Given the description of an element on the screen output the (x, y) to click on. 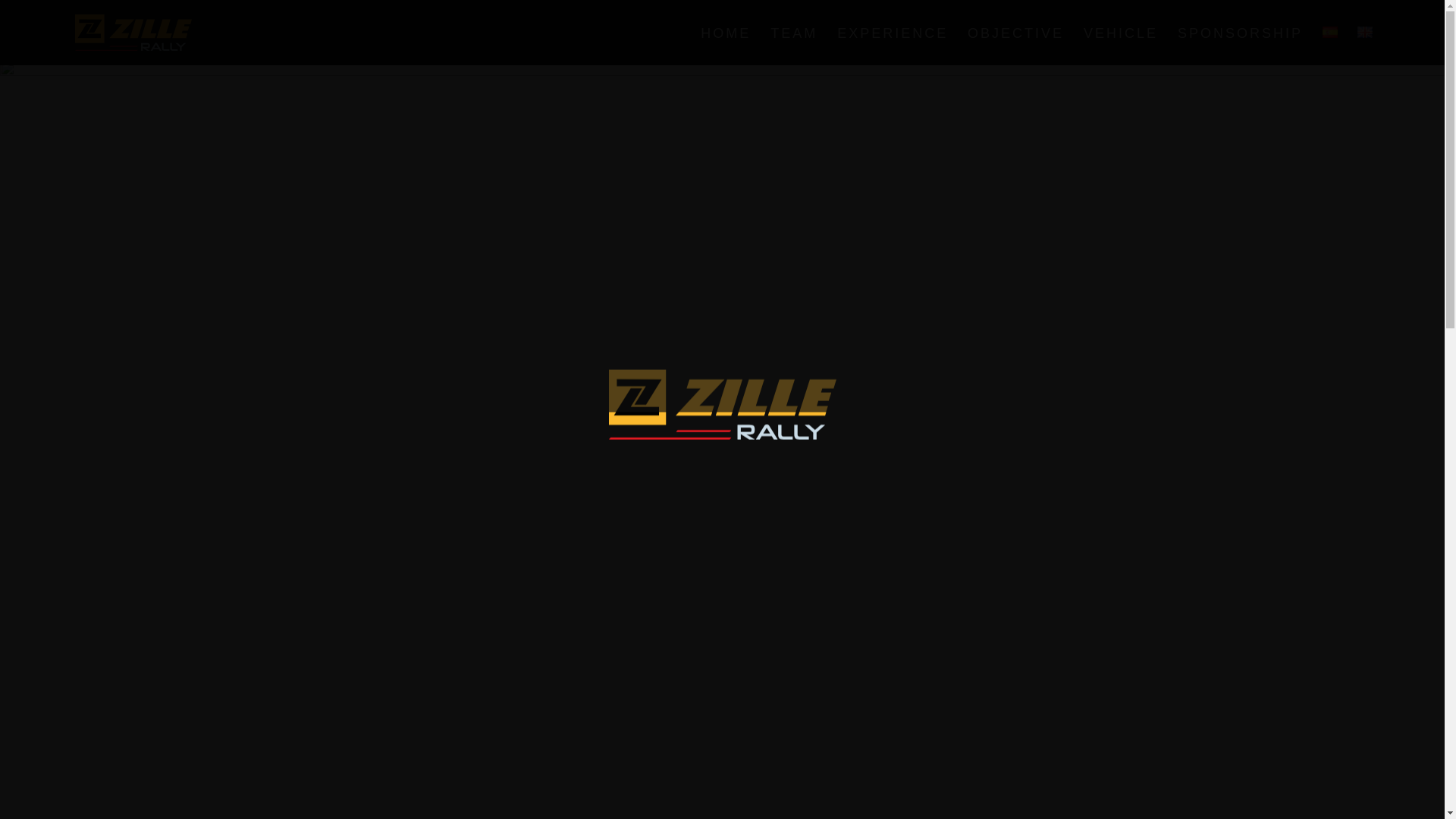
OBJECTIVE (1016, 46)
SPONSORSHIP (1240, 46)
EXPERIENCE (892, 46)
VEHICLE (1120, 46)
HOME (725, 46)
TEAM (793, 46)
